Given the description of an element on the screen output the (x, y) to click on. 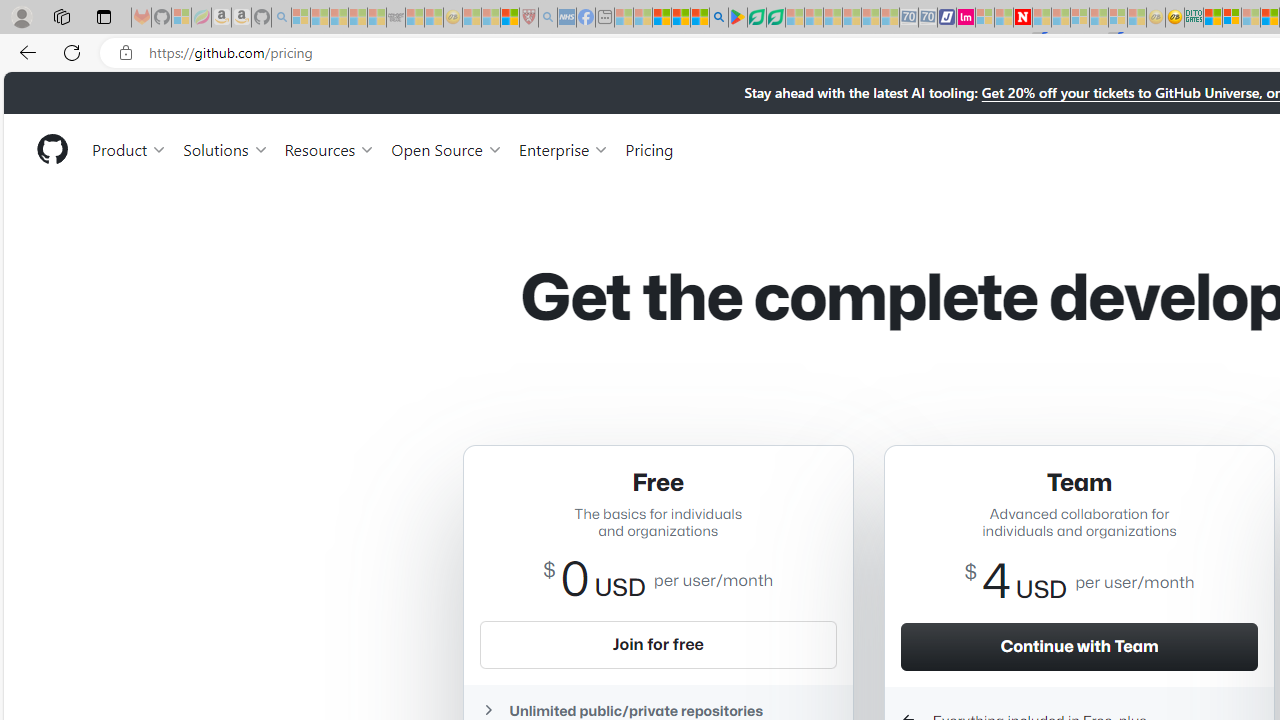
Enterprise (563, 148)
Solutions (225, 148)
Terms of Use Agreement (756, 17)
Continue with Team (1079, 646)
